Given the description of an element on the screen output the (x, y) to click on. 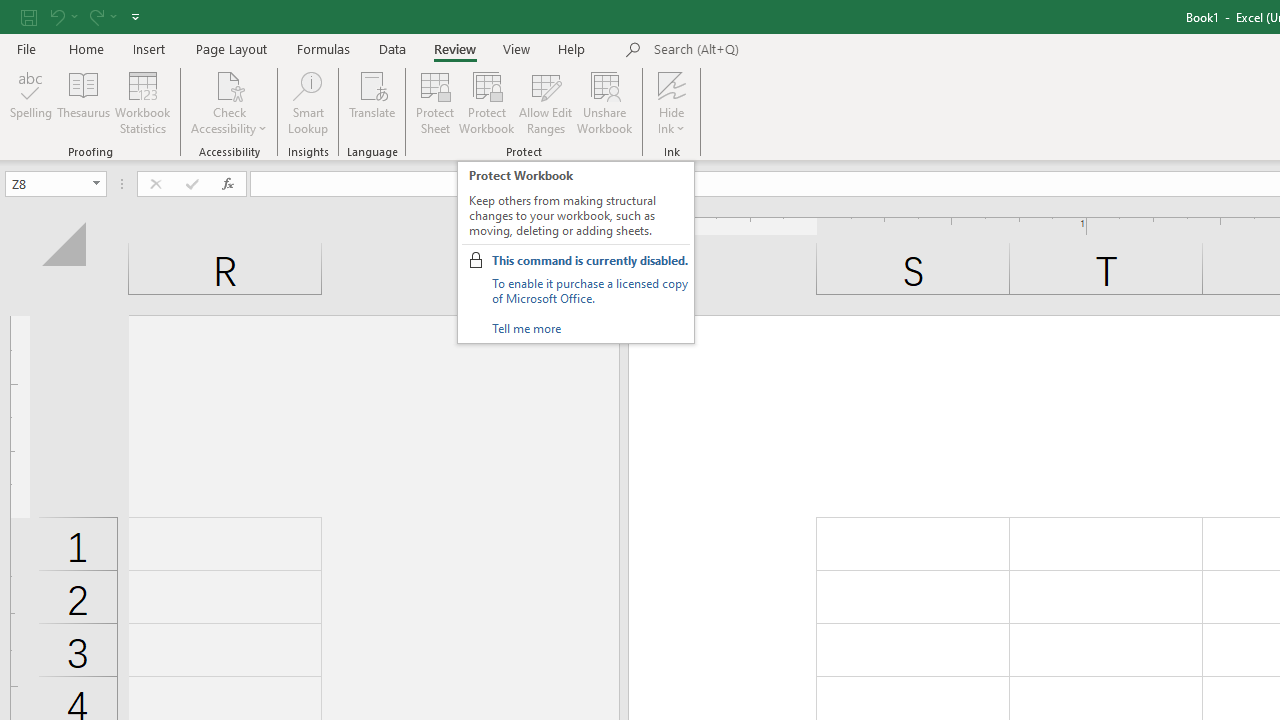
Smart Lookup (308, 102)
Protect Workbook... (486, 102)
